Given the description of an element on the screen output the (x, y) to click on. 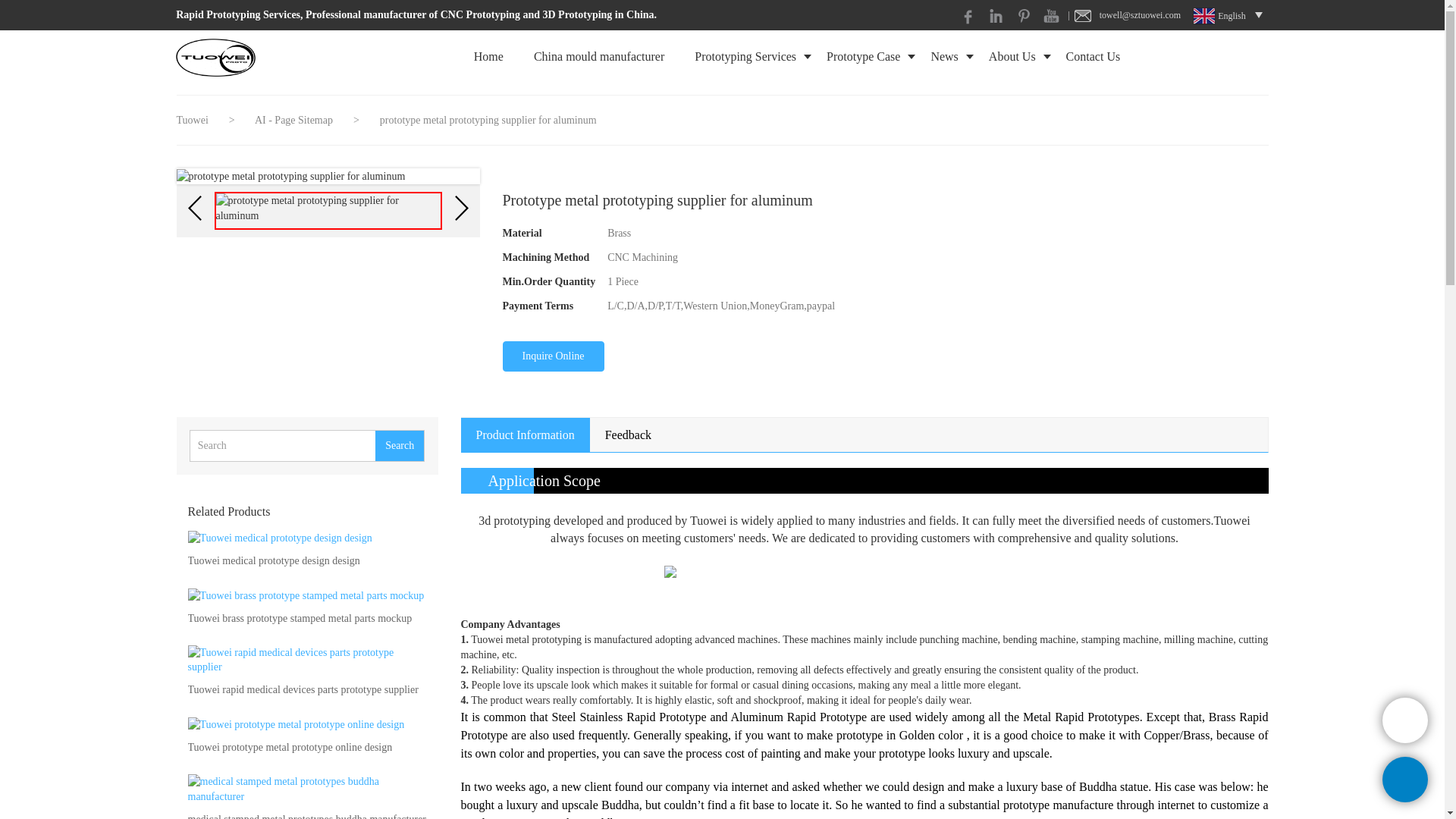
Prototype Case (862, 56)
Tuowei rapid medical devices parts prototype supplier (303, 689)
Tuowei prototype metal prototype online design (290, 747)
Home (488, 56)
Tuowei brass prototype stamped metal parts mockup (299, 618)
Tuowei medical prototype design design (273, 560)
News (943, 56)
Prototyping Services (744, 56)
medical stamped metal prototypes buddha manufacturer (306, 815)
China mould manufacturer (598, 56)
About Us (1012, 56)
